Given the description of an element on the screen output the (x, y) to click on. 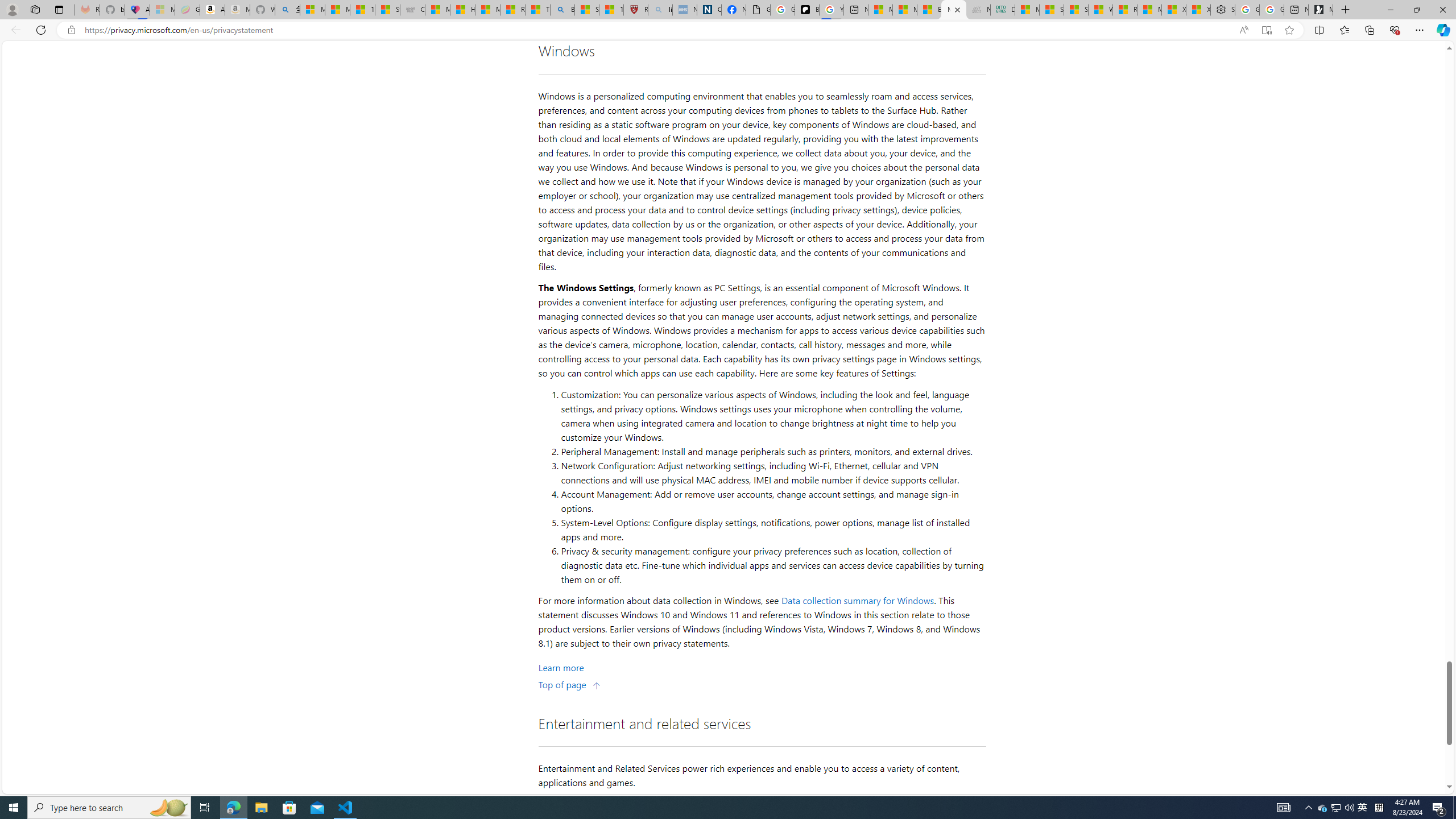
Entertainment - MSN (929, 9)
Learn More about Windows (560, 667)
